Given the description of an element on the screen output the (x, y) to click on. 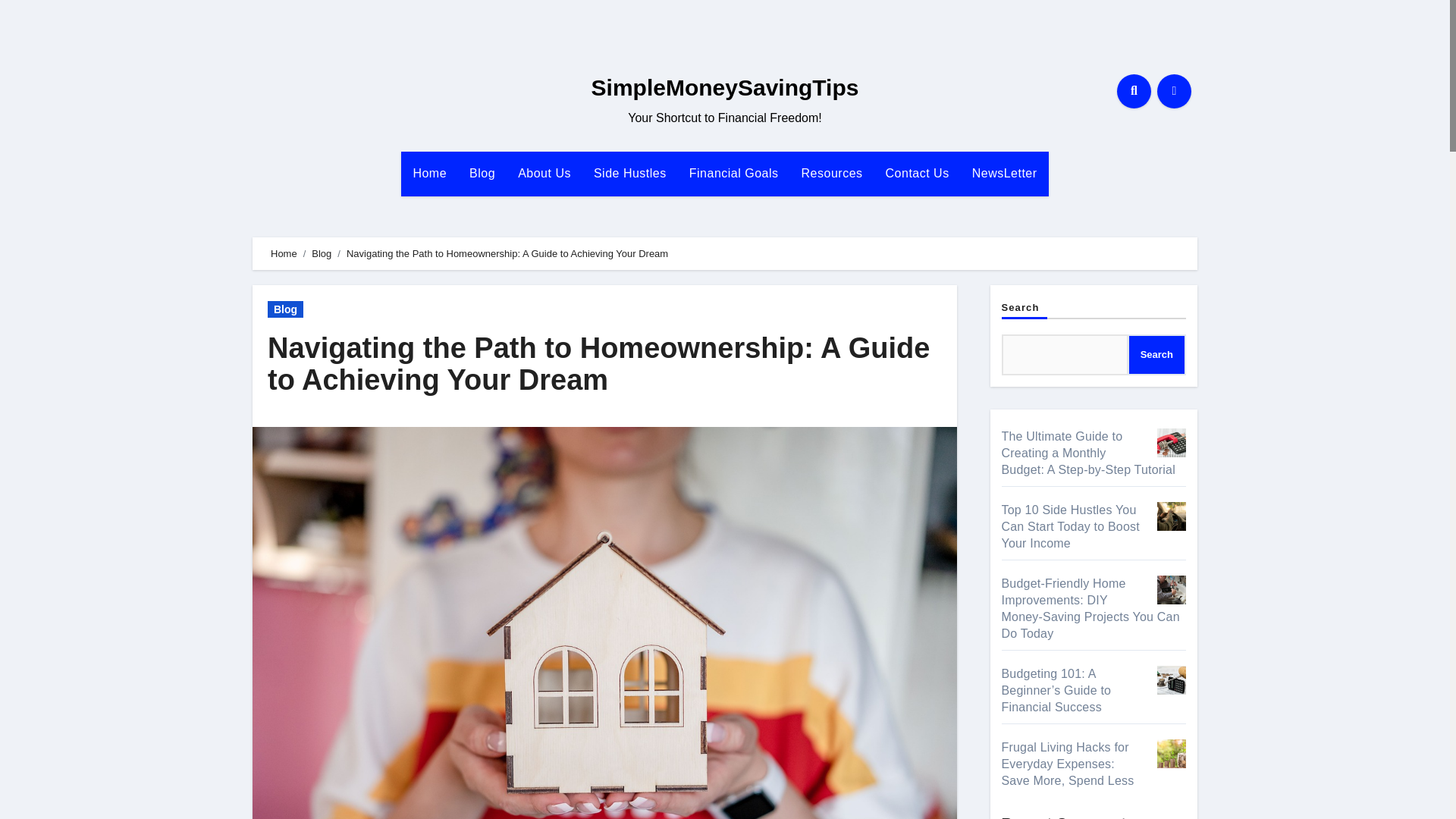
Resources (832, 173)
NewsLetter (1004, 173)
Blog (284, 309)
About Us (544, 173)
Resources (832, 173)
Blog (482, 173)
Home (429, 173)
Home (283, 253)
Contact Us (917, 173)
